Given the description of an element on the screen output the (x, y) to click on. 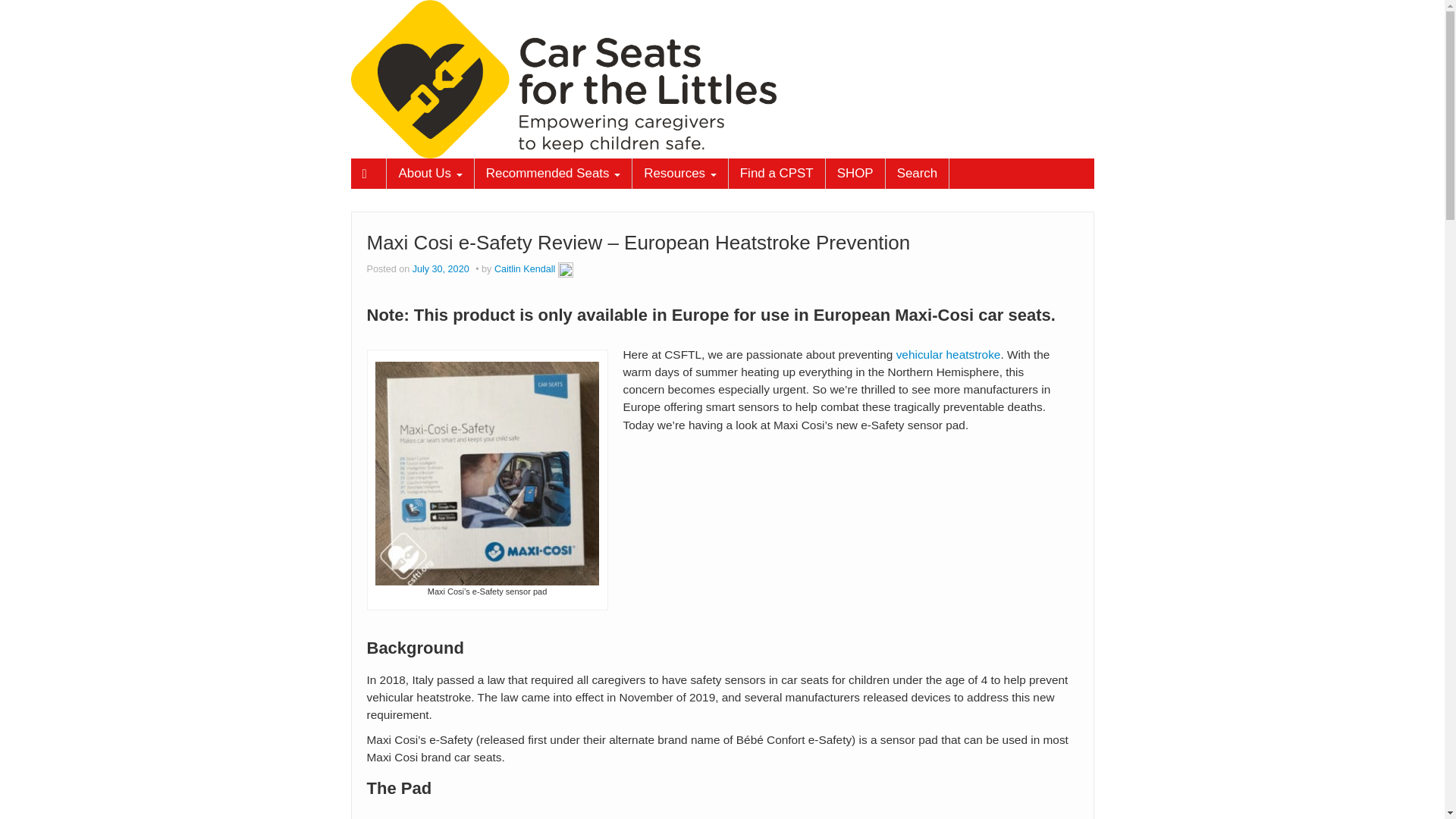
Search (917, 173)
SHOP (855, 173)
Recommended Seats (552, 173)
vehicular heatstroke (948, 354)
View all posts by Caitlin Kendall (525, 268)
Car Seats For The Littles (563, 78)
Find a CPST (777, 173)
11:16 am (441, 268)
Resources (679, 173)
View all posts by Caitlin Kendall (565, 268)
